Given the description of an element on the screen output the (x, y) to click on. 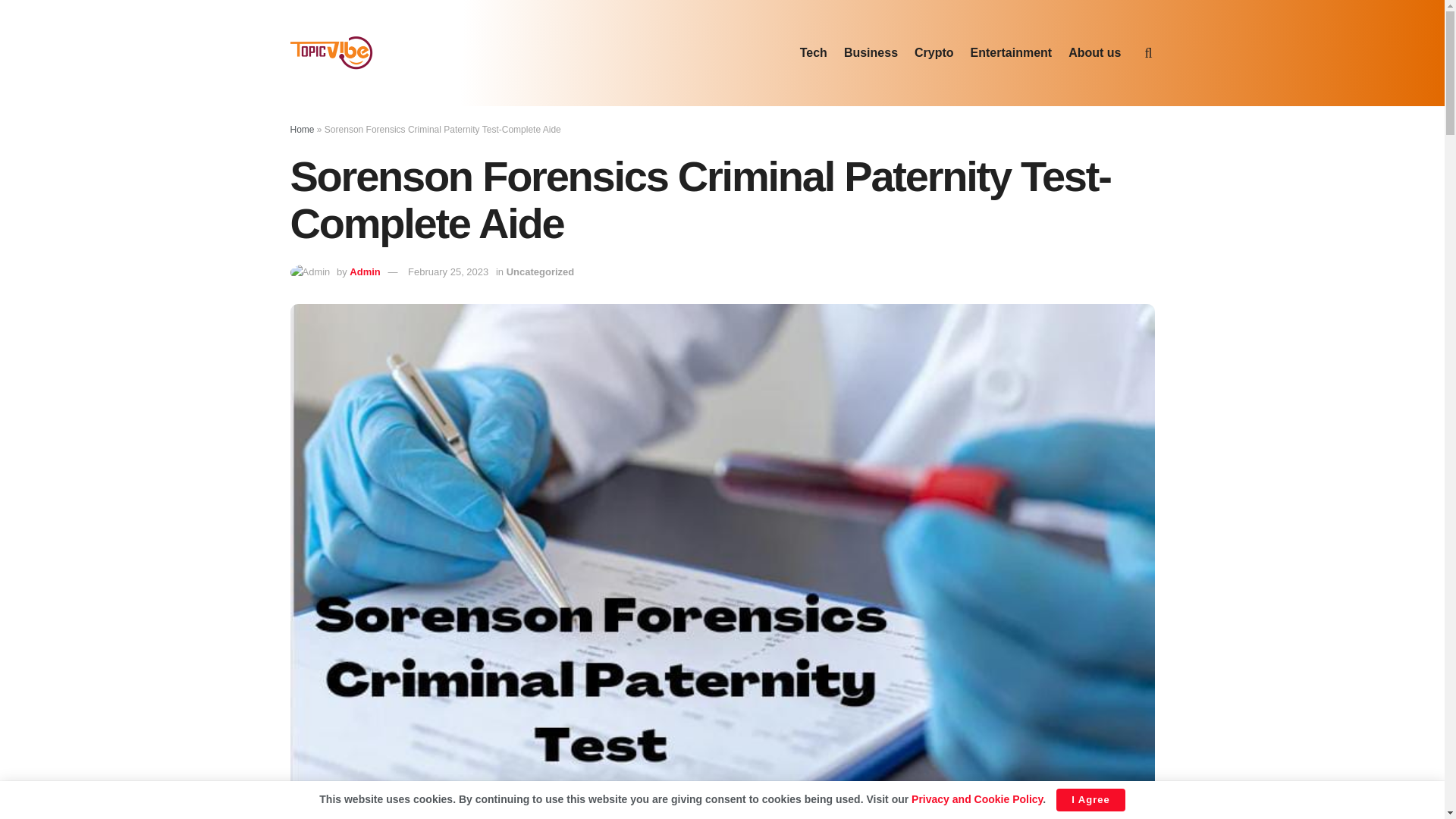
Entertainment (1011, 53)
Business (871, 53)
Tech (813, 53)
Crypto (933, 53)
Admin (364, 271)
About us (1094, 53)
Uncategorized (540, 271)
February 25, 2023 (447, 271)
Home (301, 129)
